Given the description of an element on the screen output the (x, y) to click on. 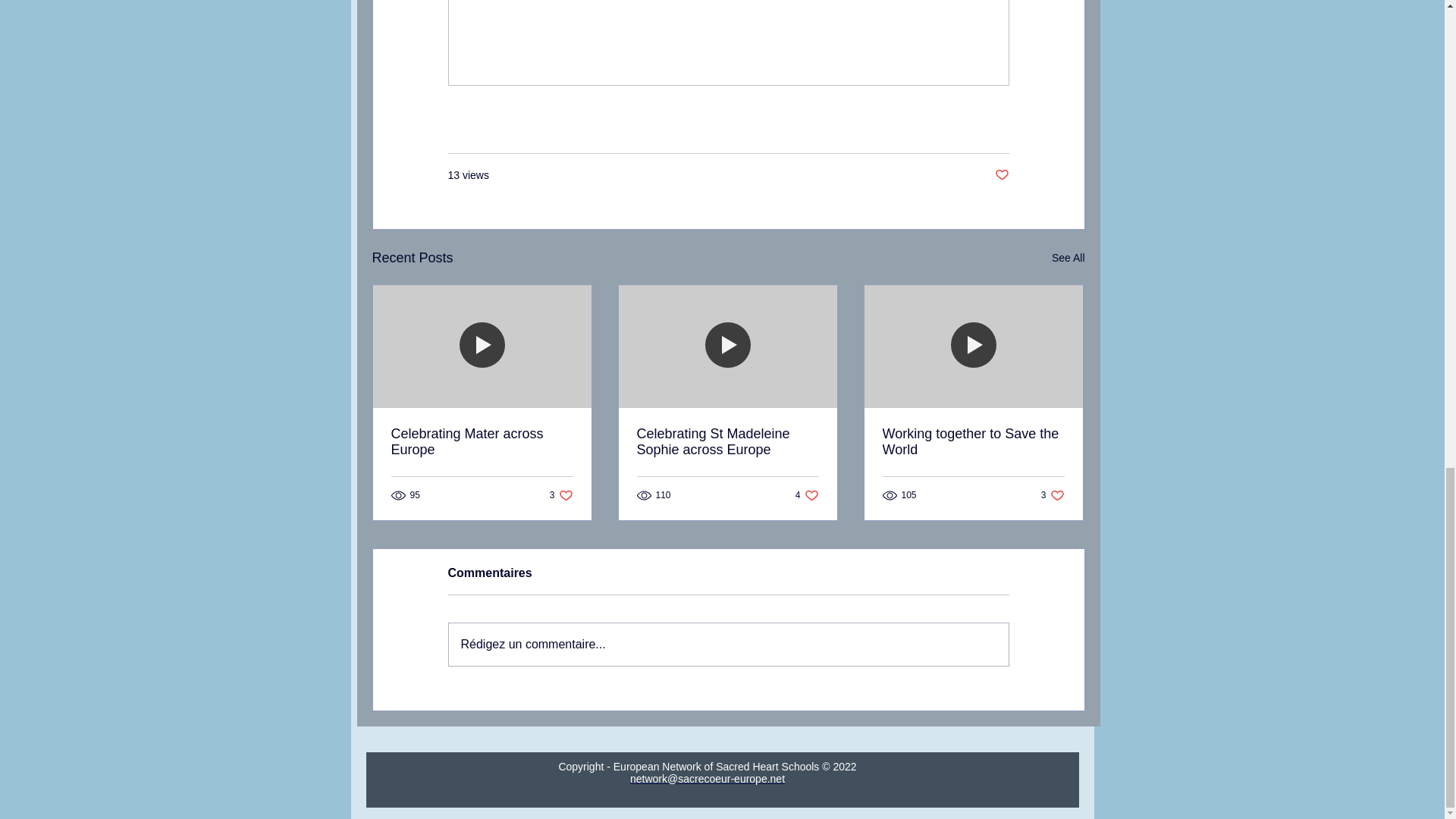
Working together to Save the World (973, 441)
Celebrating Mater across Europe (806, 495)
See All (482, 441)
Post not marked as liked (561, 495)
Celebrating St Madeleine Sophie across Europe (1067, 258)
